Given the description of an element on the screen output the (x, y) to click on. 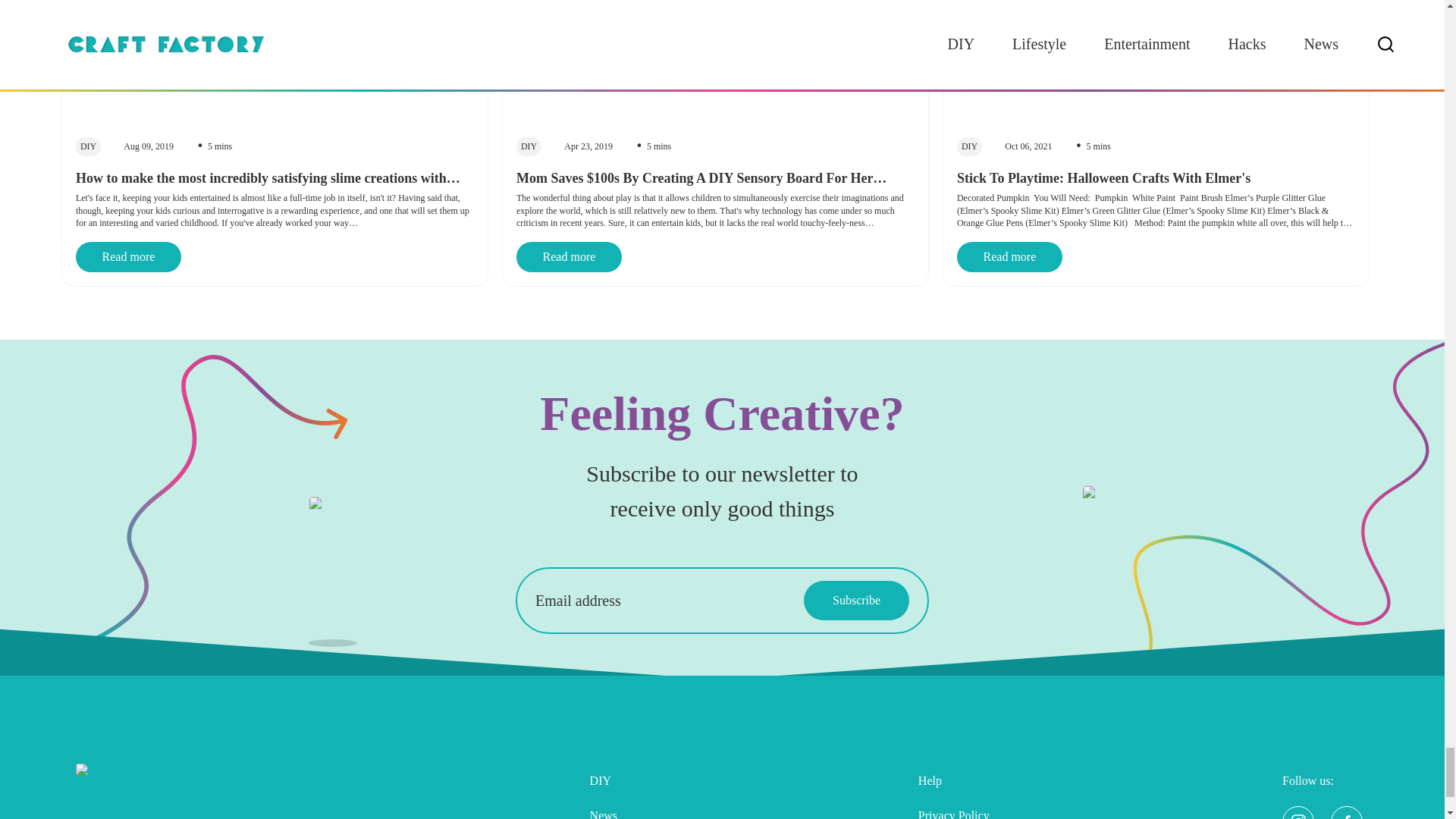
Read more (568, 256)
Help (970, 779)
Subscribe (855, 599)
Read more (1009, 256)
News (624, 808)
Read more (127, 256)
DIY (624, 779)
Privacy Policy (970, 808)
